Given the description of an element on the screen output the (x, y) to click on. 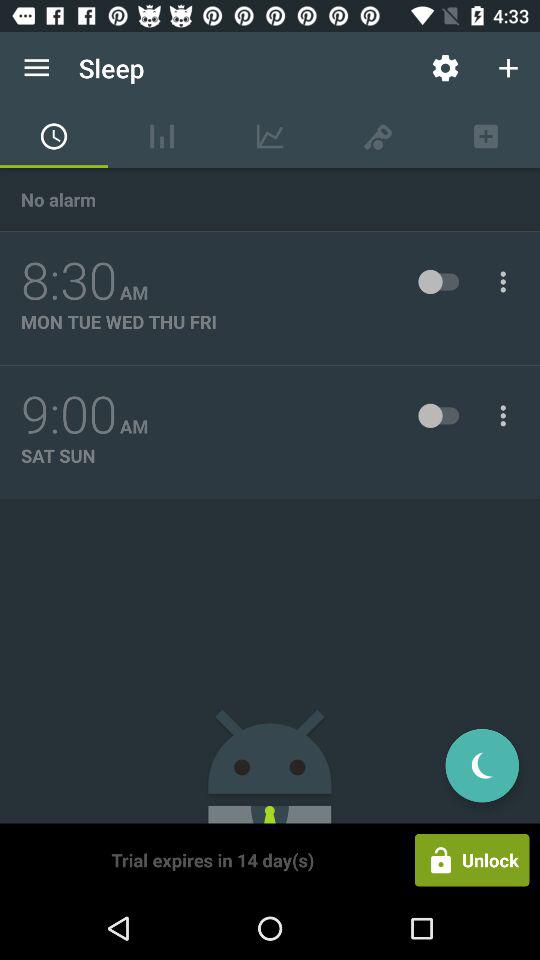
tap the icon below the mon tue wed (69, 415)
